Given the description of an element on the screen output the (x, y) to click on. 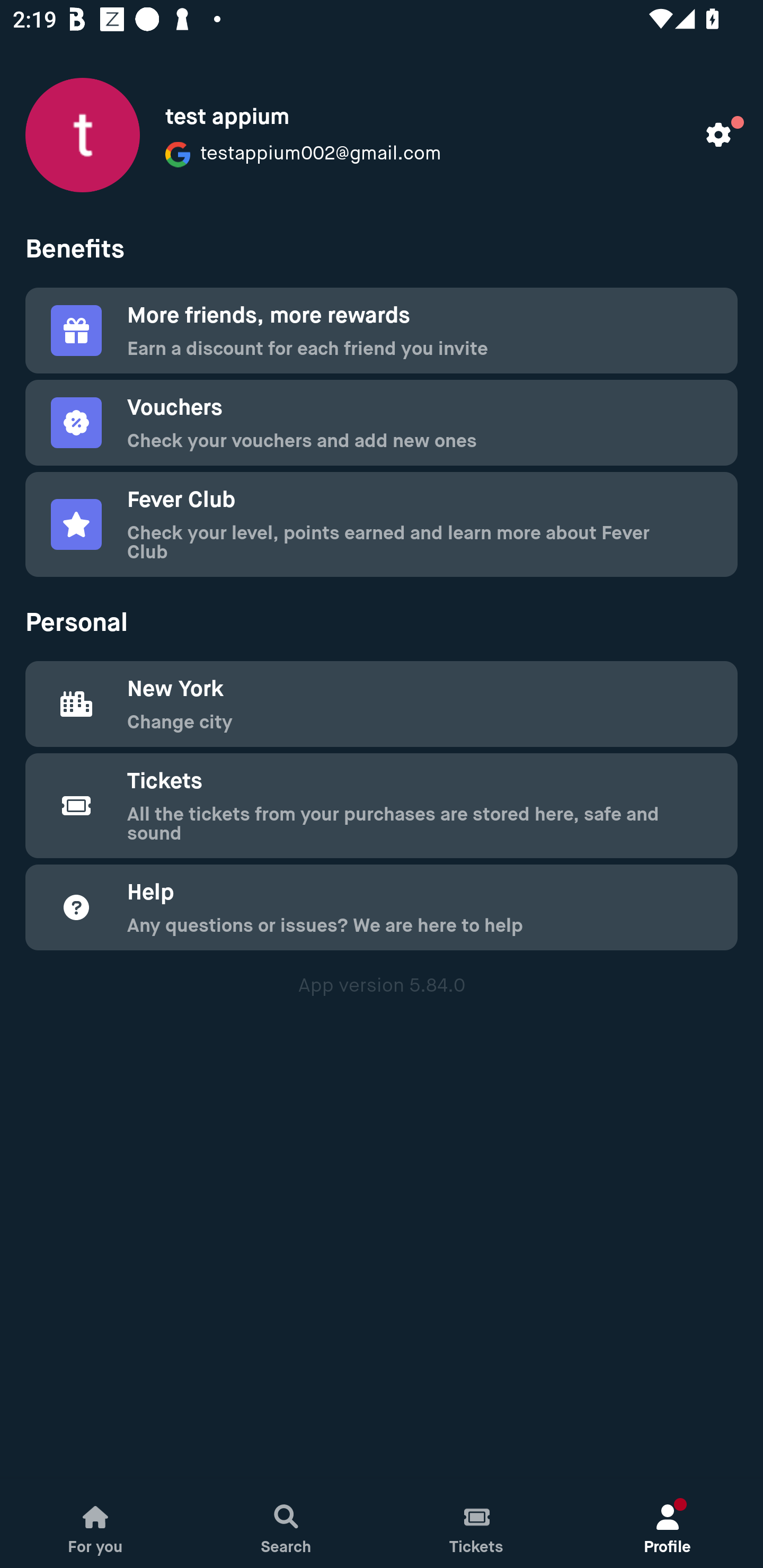
Vouchers Check your vouchers and add new ones (381, 422)
New York Change city (381, 703)
Help Any questions or issues? We are here to help (381, 906)
For you (95, 1523)
Search (285, 1523)
Tickets (476, 1523)
